Given the description of an element on the screen output the (x, y) to click on. 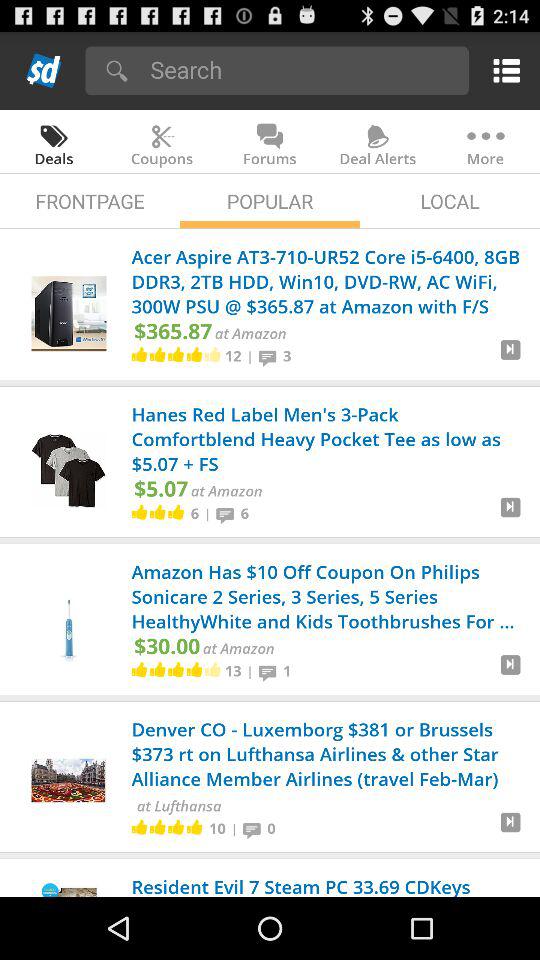
press the app to the right of the popular icon (450, 200)
